Given the description of an element on the screen output the (x, y) to click on. 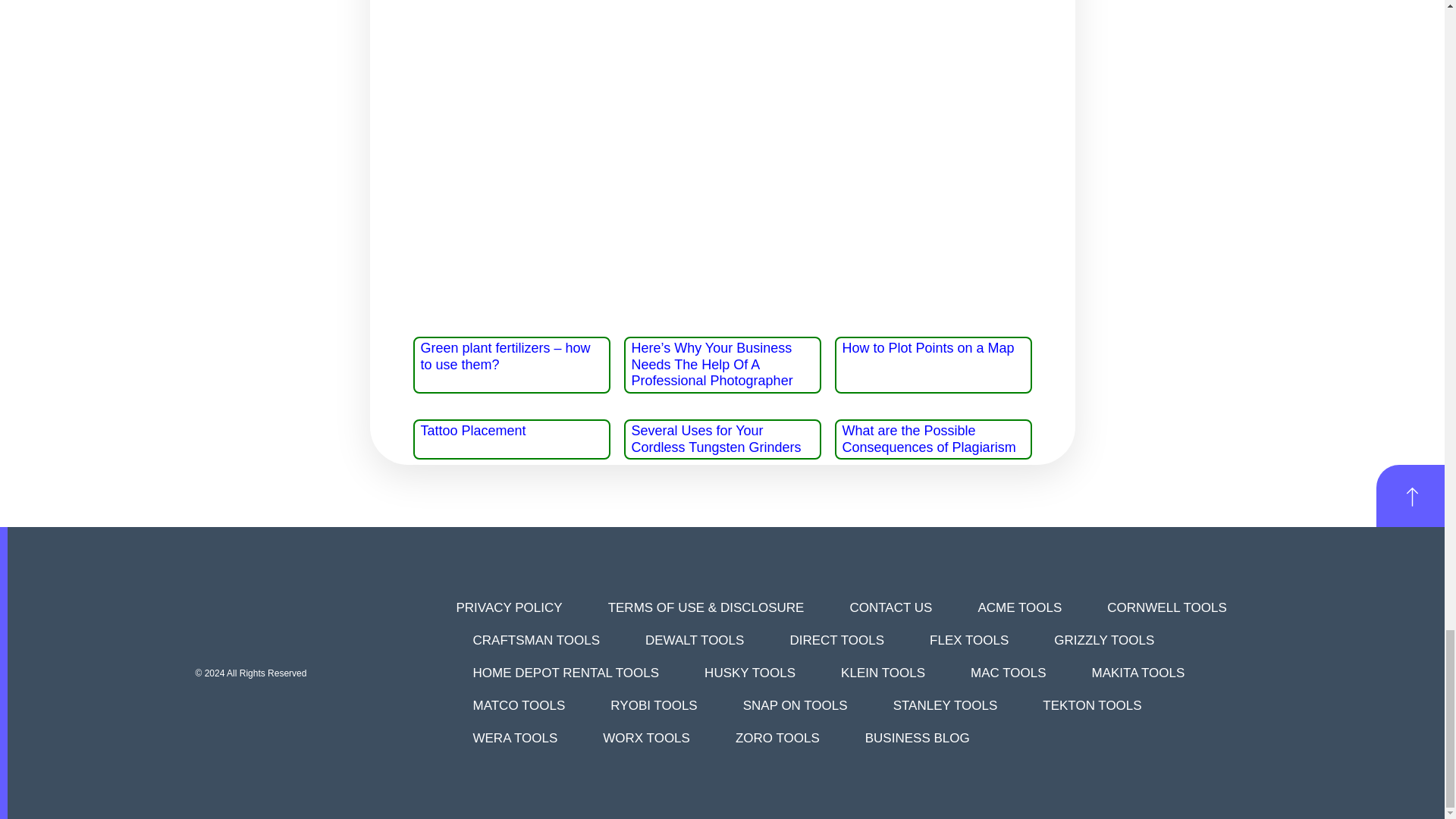
PRIVACY POLICY (508, 607)
FLEX TOOLS (968, 640)
TEKTON TOOLS (1091, 705)
Tattoo Placement (472, 430)
SNAP ON TOOLS (794, 705)
BUSINESS BLOG (917, 737)
MAC TOOLS (1007, 672)
Several Uses for Your Cordless Tungsten Grinders (715, 439)
STANLEY TOOLS (945, 705)
HUSKY TOOLS (750, 672)
What are the Possible Consequences of Plagiarism (927, 439)
DEWALT TOOLS (694, 640)
CONTACT US (890, 607)
ACME TOOLS (1019, 607)
HOME DEPOT RENTAL TOOLS (565, 672)
